Given the description of an element on the screen output the (x, y) to click on. 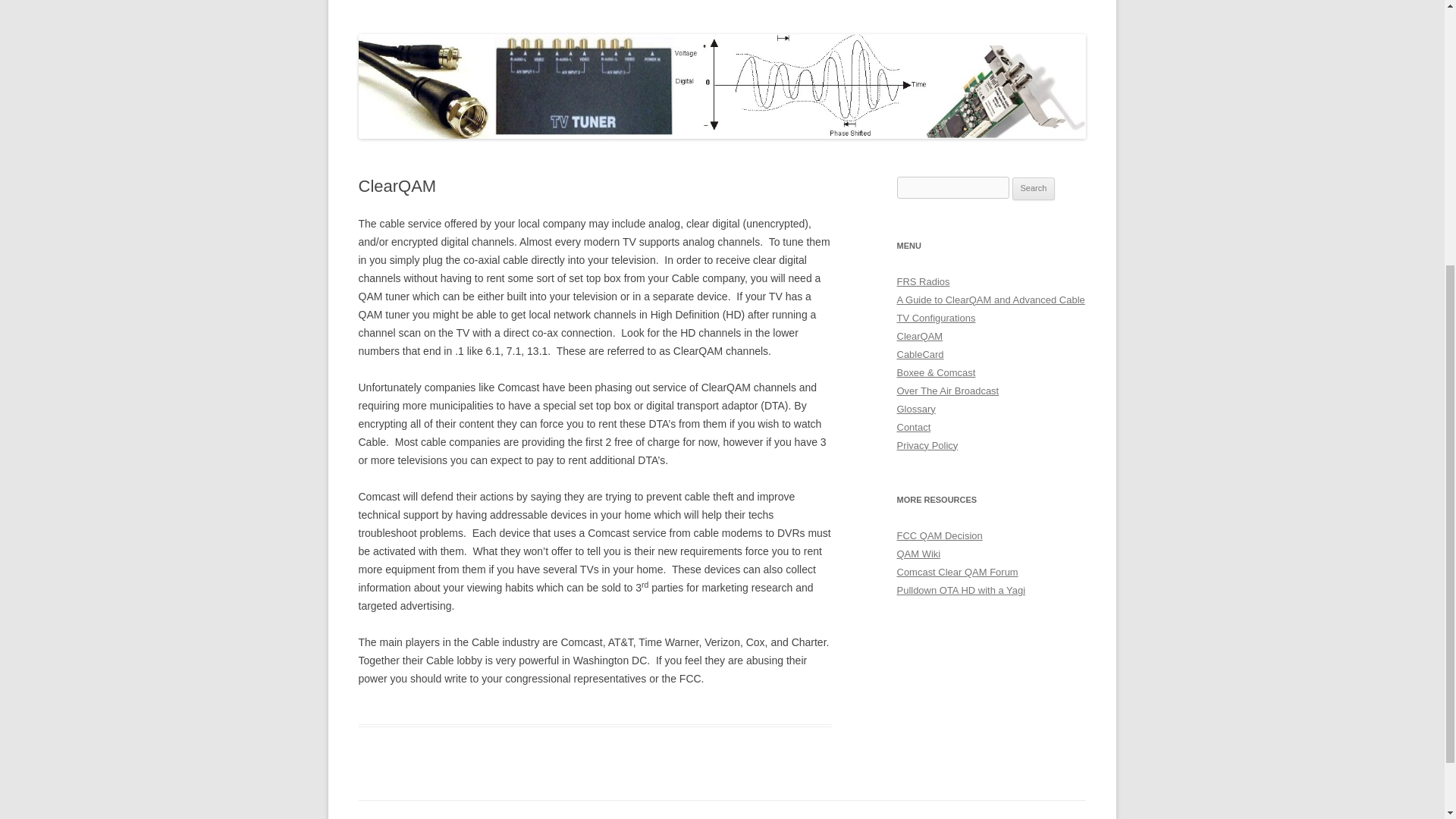
QAM Wiki (918, 553)
Privacy Policy (927, 445)
Glossary (915, 408)
Advertisement (722, 4)
Over The Air Broadcast (947, 390)
A Guide to ClearQAM and Advanced Cable TV Configurations (990, 308)
Contact (913, 427)
FRS Radios (922, 281)
Search (1033, 188)
Comcast Clear QAM Forum (956, 572)
